Given the description of an element on the screen output the (x, y) to click on. 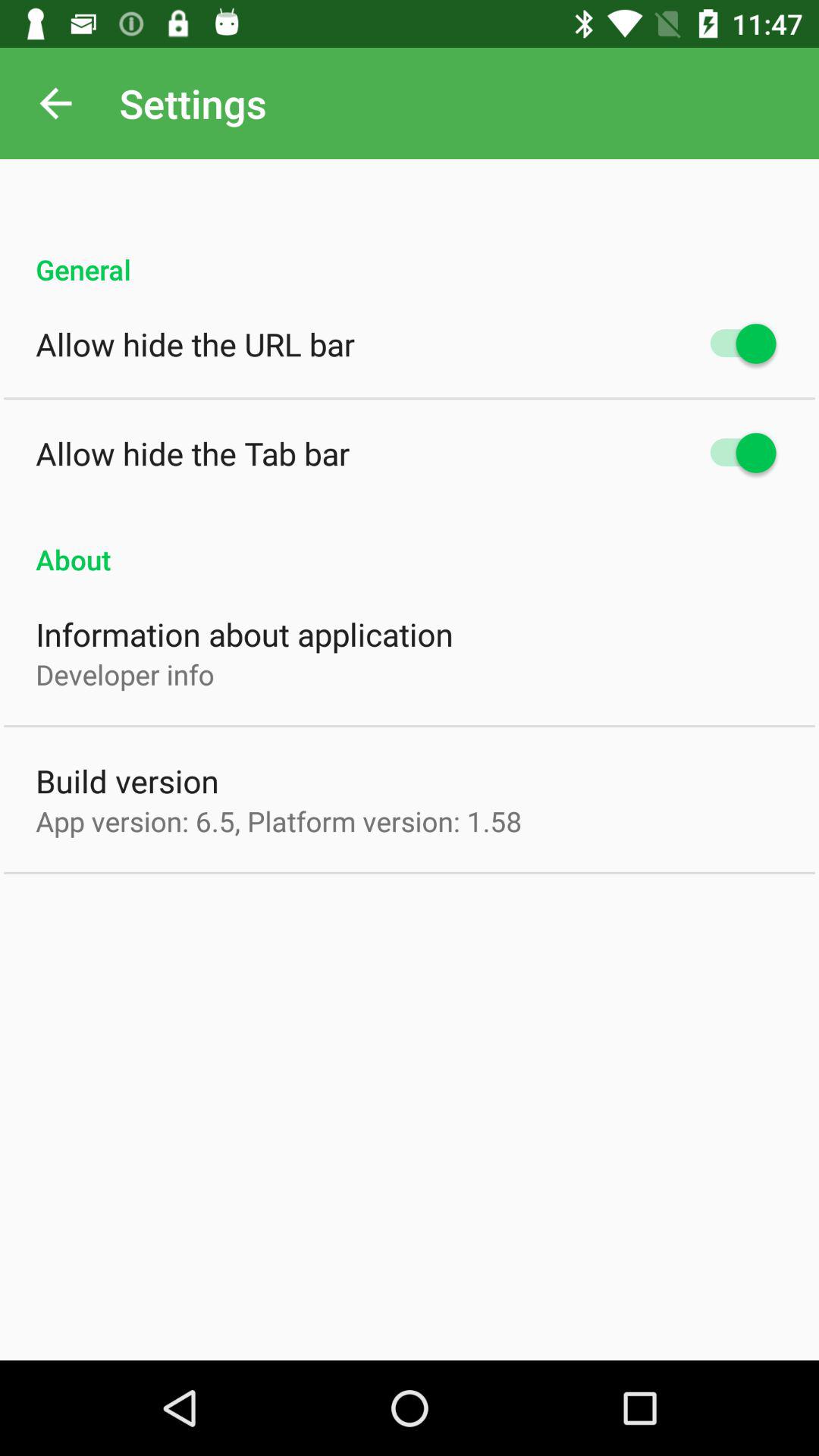
select icon above developer info icon (244, 633)
